Given the description of an element on the screen output the (x, y) to click on. 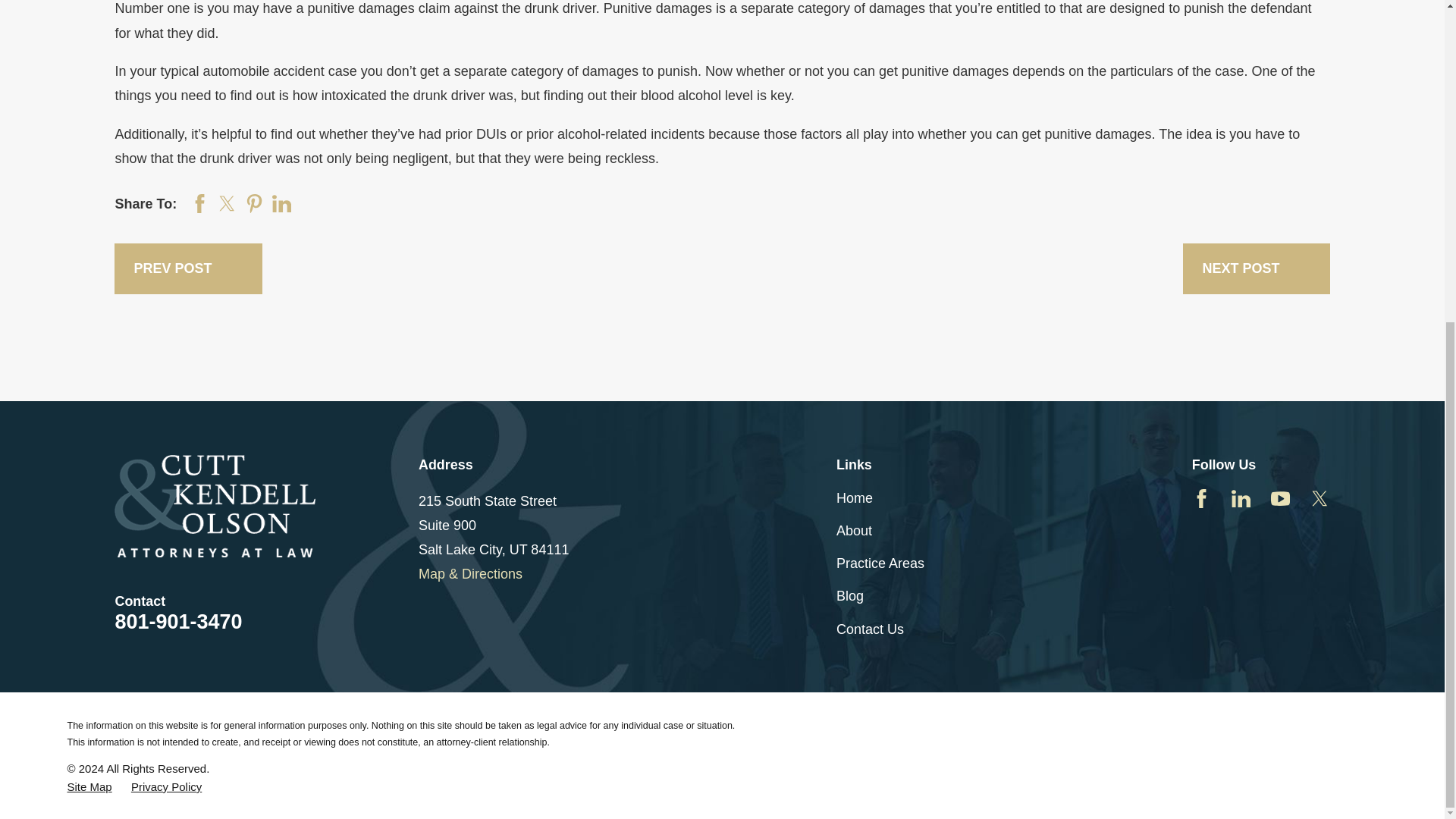
YouTube (1280, 497)
Twitter (1319, 497)
LinkedIn (1240, 497)
Facebook (1201, 497)
Home (267, 506)
